Given the description of an element on the screen output the (x, y) to click on. 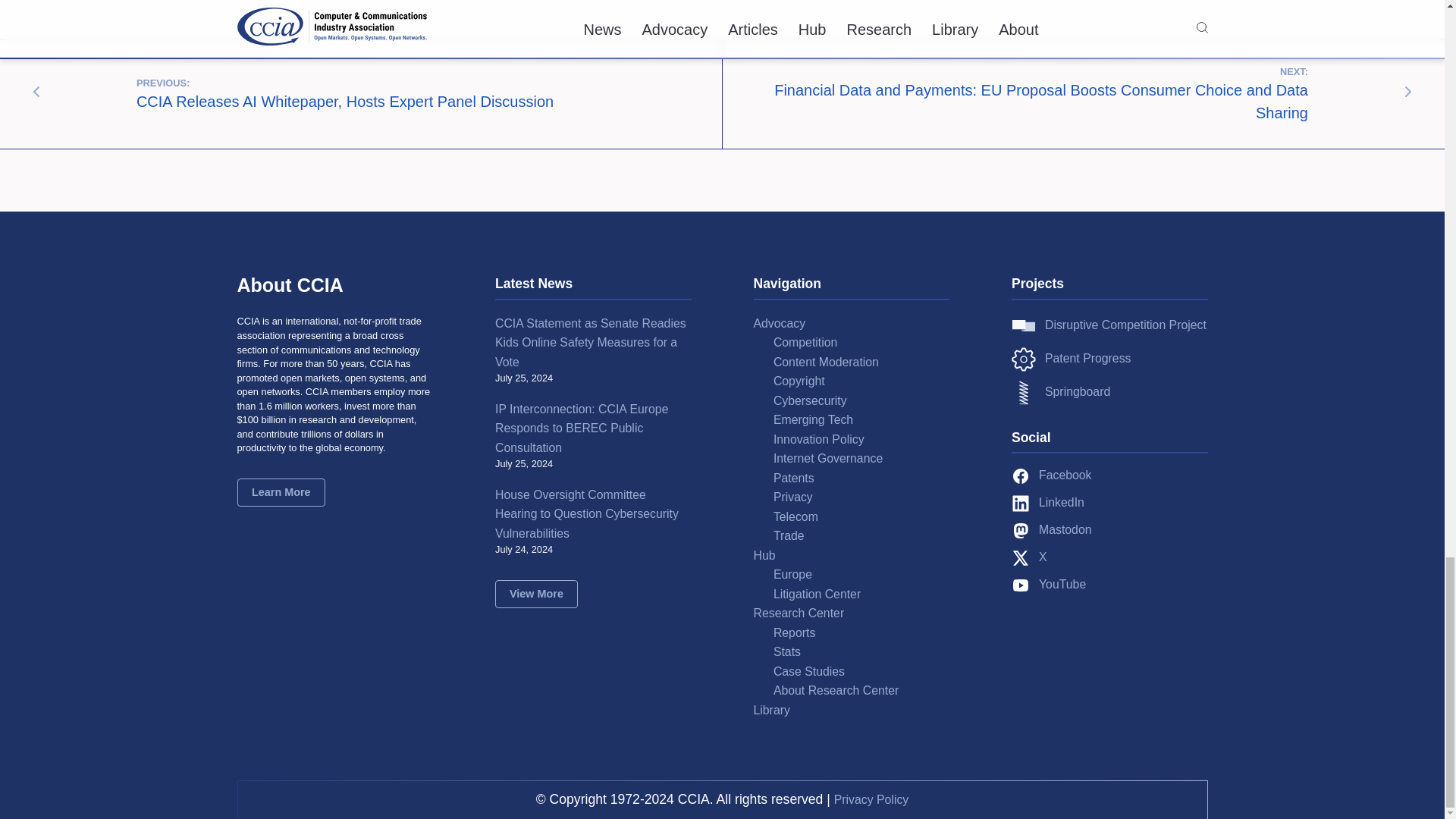
facebook circle fill (1020, 475)
mastodon fill (1020, 530)
youtube fill (1020, 585)
arrow-sm-right (1408, 91)
arrow-sm-left (36, 91)
